Given the description of an element on the screen output the (x, y) to click on. 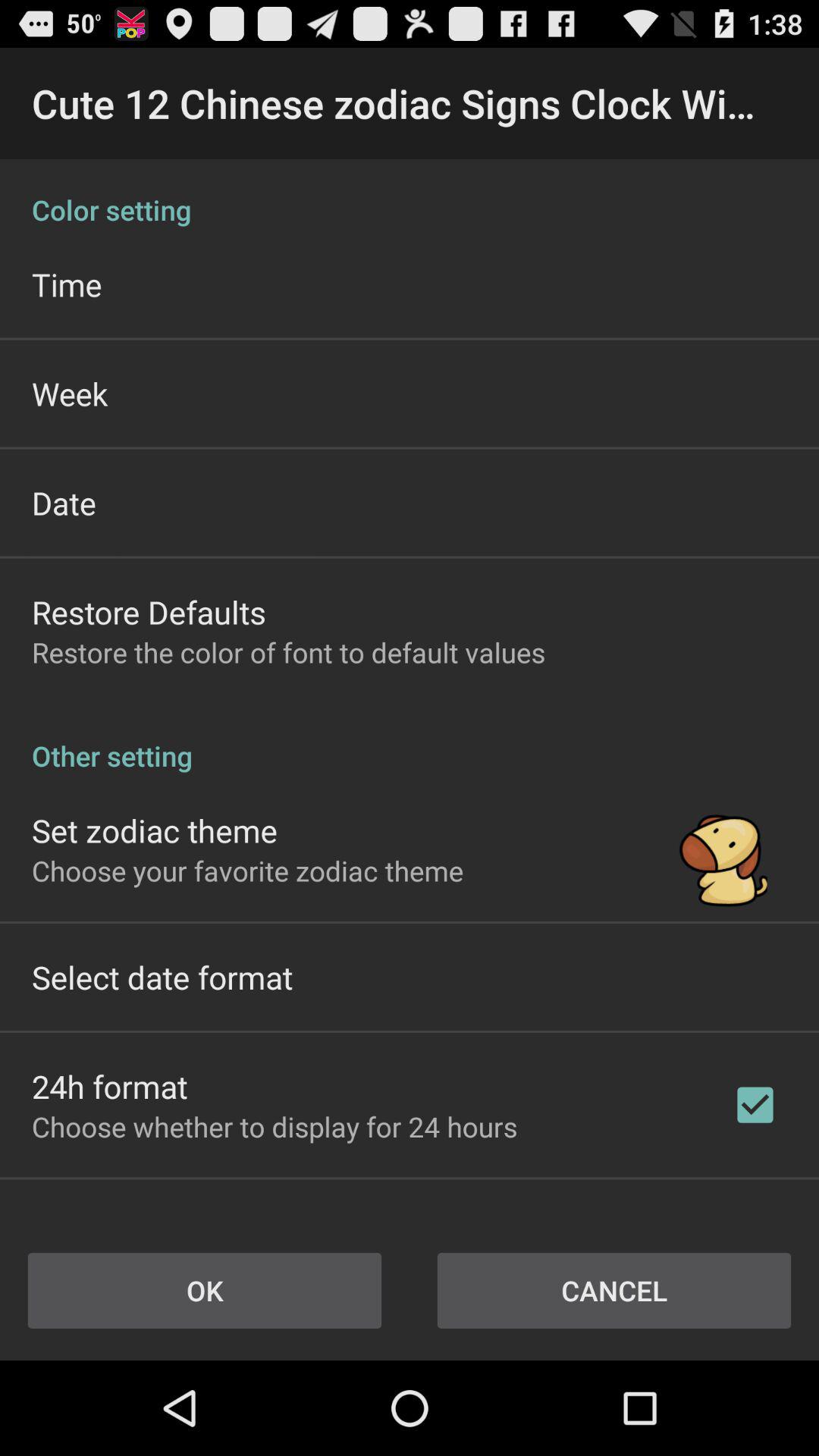
flip to choose whether to icon (274, 1126)
